Given the description of an element on the screen output the (x, y) to click on. 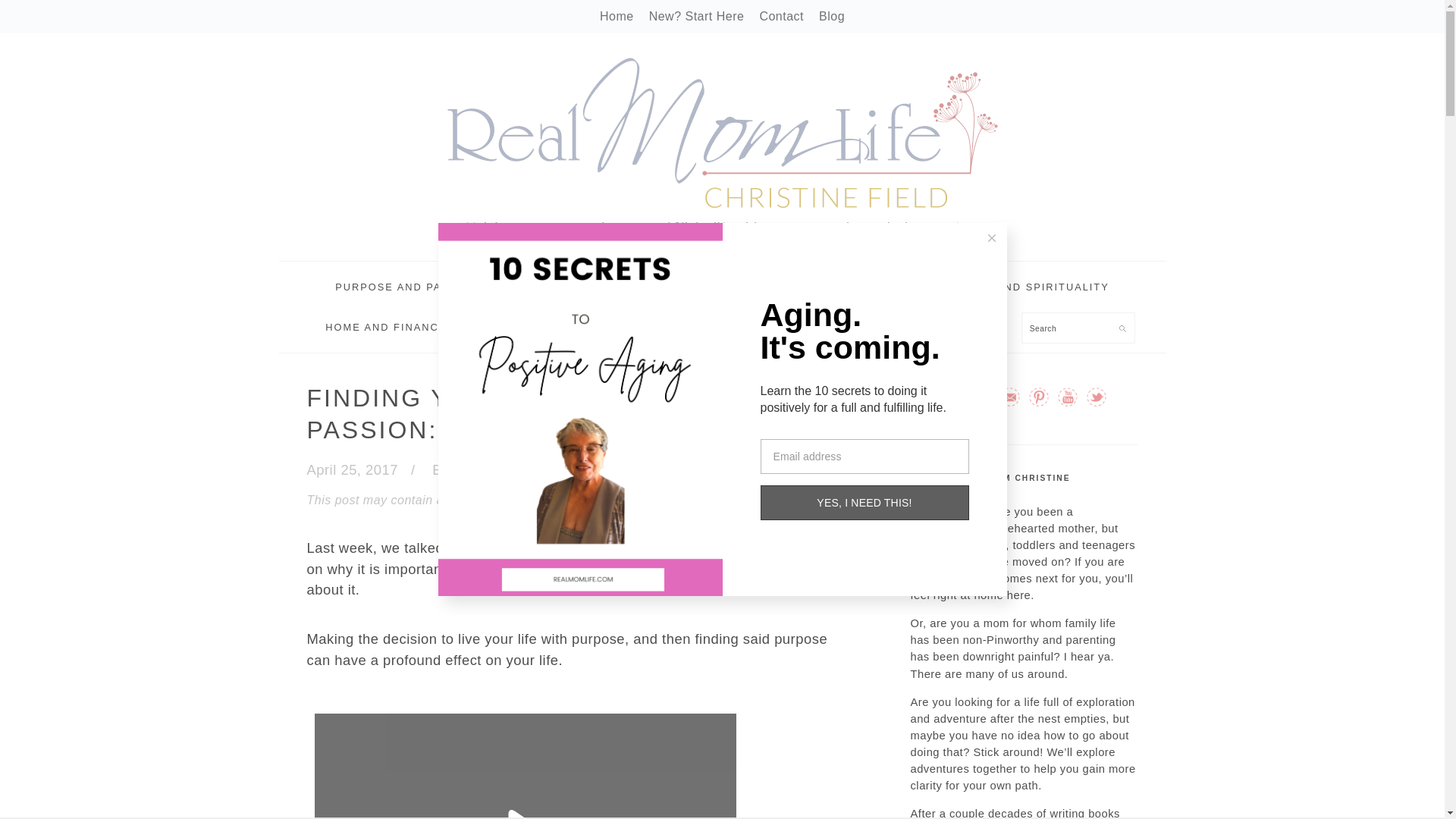
PURPOSE AND PASSION (406, 286)
RELATIONSHIPS (672, 286)
New? Start Here (696, 15)
Real Mom Life (721, 147)
Home (616, 15)
Blog (831, 15)
Contact (780, 15)
